Given the description of an element on the screen output the (x, y) to click on. 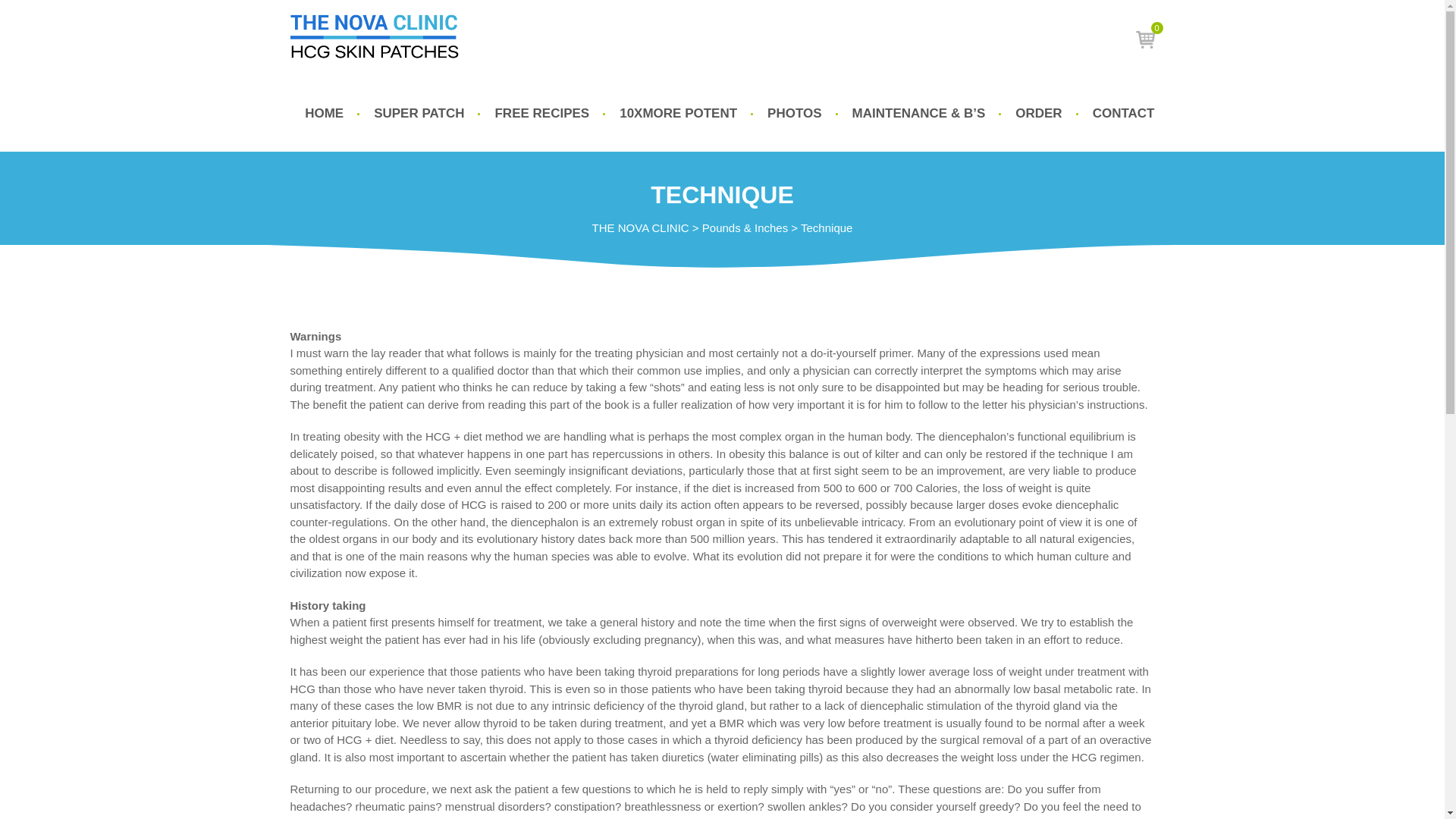
10XMORE POTENT (678, 113)
SUPER PATCH (418, 113)
CONTACT (1115, 113)
FREE RECIPES (541, 113)
PHOTOS (793, 113)
THE NOVA CLINIC (640, 227)
ORDER (1038, 113)
Go to THE NOVA CLINIC. (640, 227)
HOME (1144, 39)
